Given the description of an element on the screen output the (x, y) to click on. 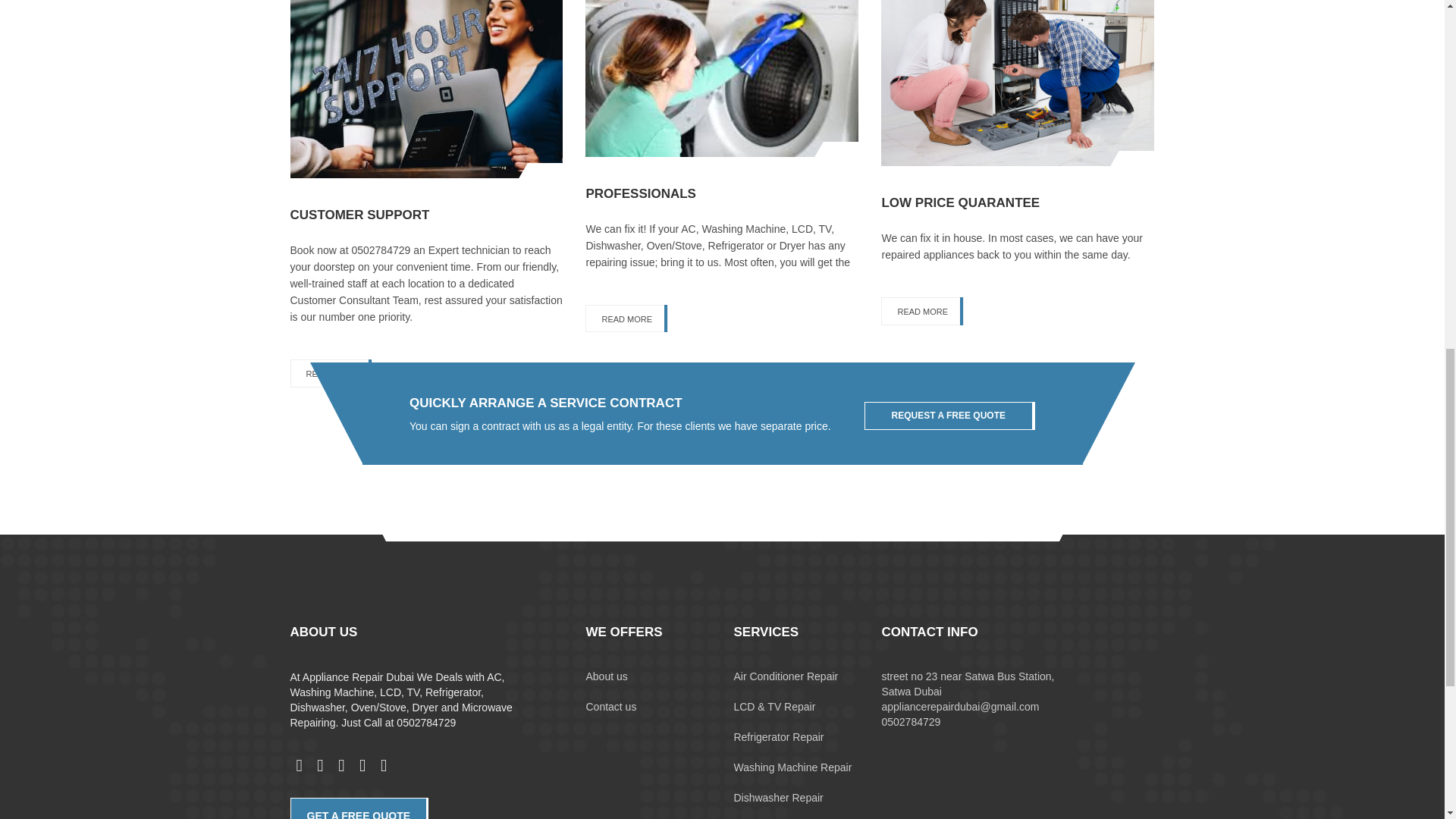
READ MORE (626, 318)
REQUEST A FREE QUOTE (949, 416)
READ MORE (330, 373)
READ MORE (921, 311)
